Given the description of an element on the screen output the (x, y) to click on. 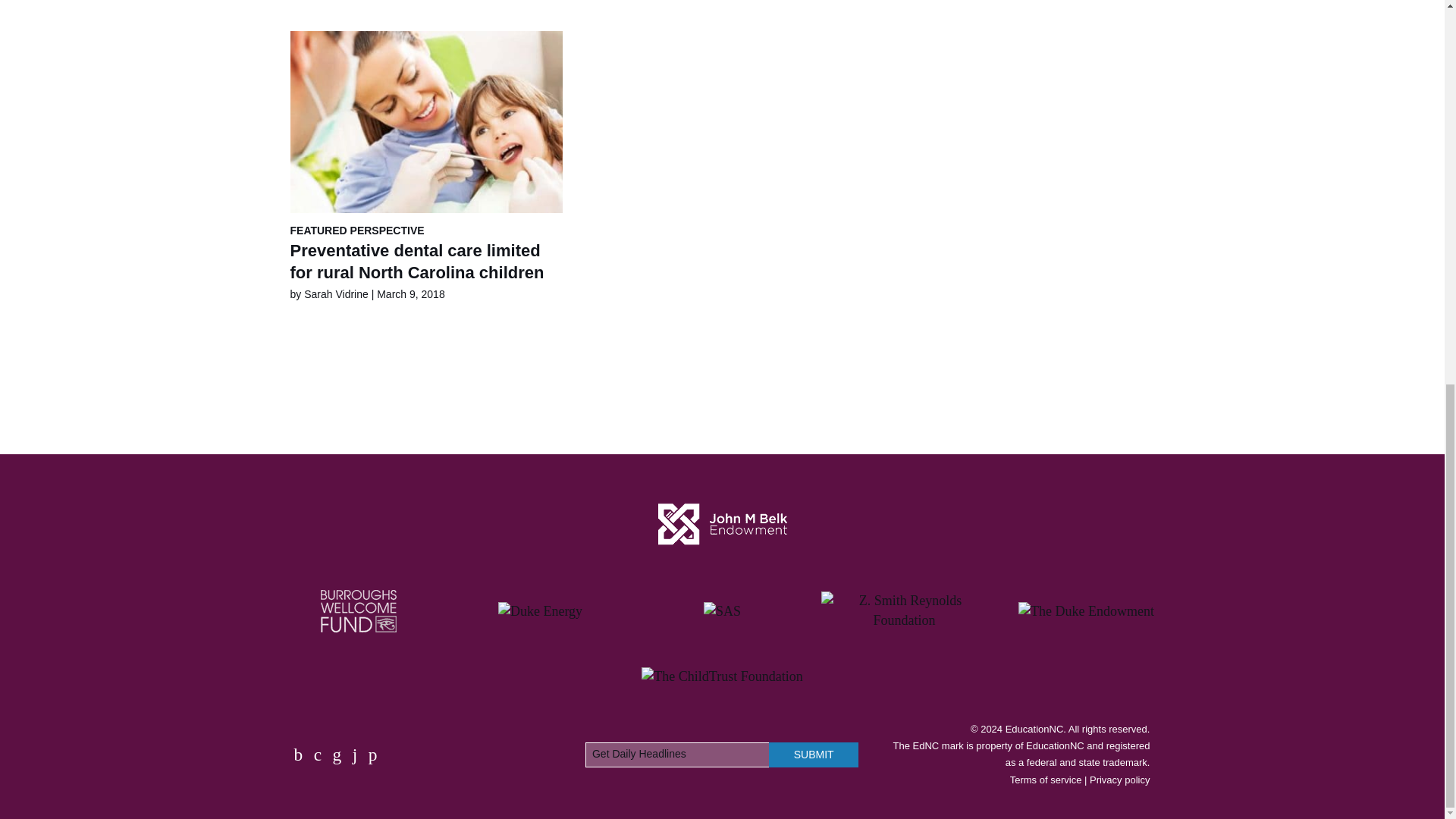
SUBMIT (813, 754)
SUBMIT (813, 754)
